Given the description of an element on the screen output the (x, y) to click on. 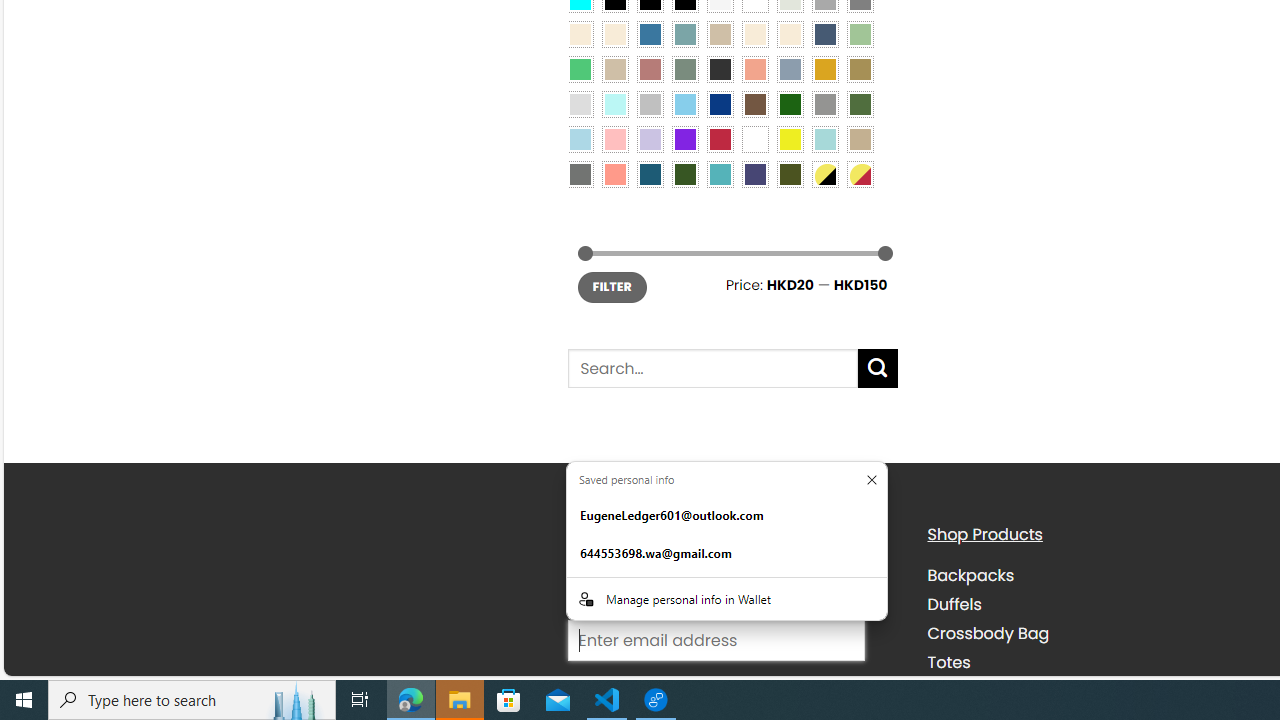
Blue Sage (684, 33)
Light Purple (650, 138)
Pink (614, 138)
Aqua (824, 138)
Emerald Green (579, 69)
Khaki (859, 138)
Beige (579, 33)
FILTER (612, 287)
Peach Pink (614, 174)
Sage (684, 69)
Dusty Blue (789, 69)
Yellow-Black (824, 174)
Gold (824, 69)
Charcoal (719, 69)
Brownie (719, 33)
